Given the description of an element on the screen output the (x, y) to click on. 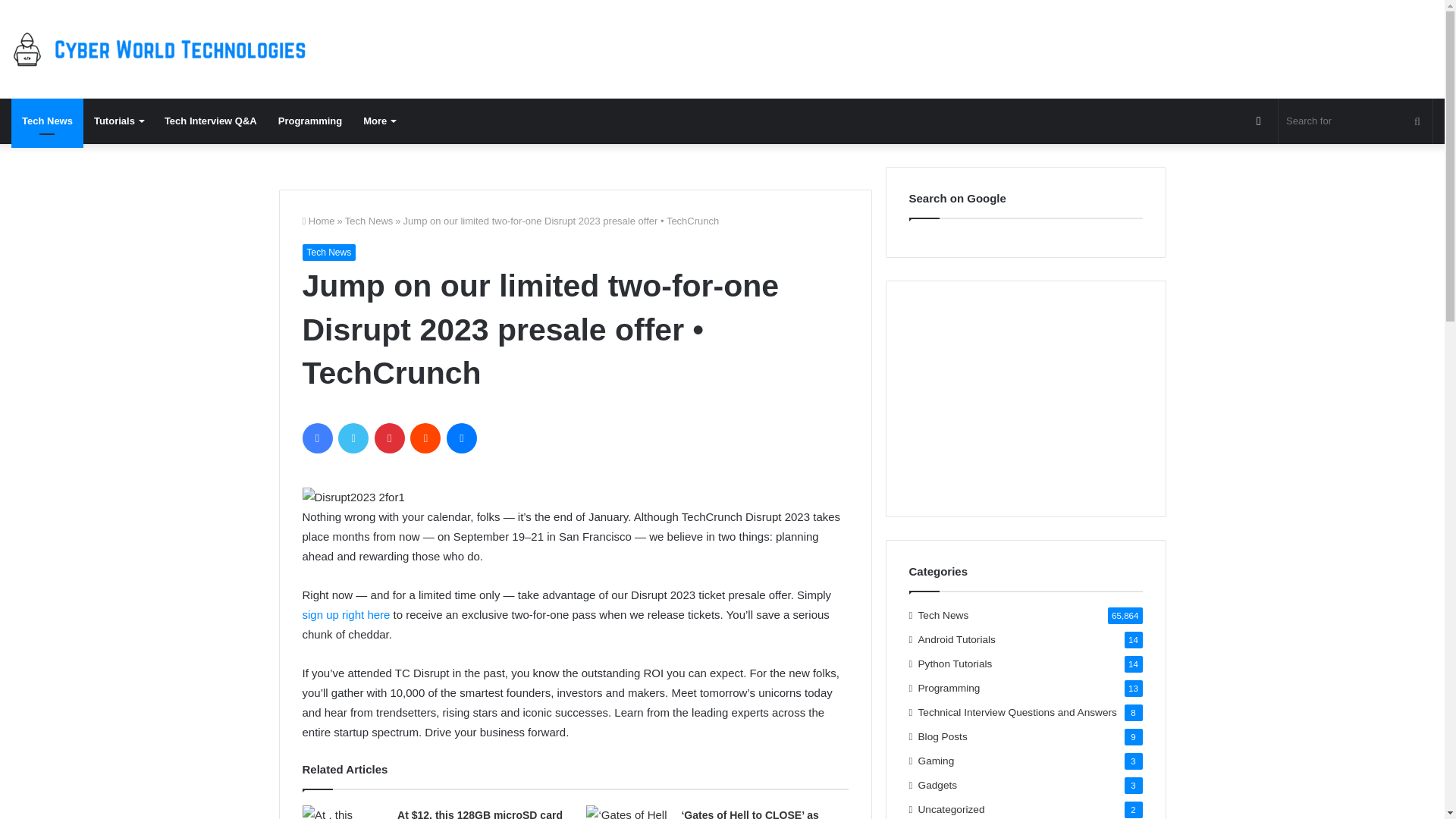
Programming (310, 121)
Home (317, 220)
Pinterest (389, 438)
Tech News (369, 220)
Tech News (46, 121)
More (379, 121)
Reddit (425, 438)
At , this 128GB microSD card is a no-brainer impulse buy (343, 812)
Facebook (316, 438)
Tech News (328, 252)
